Given the description of an element on the screen output the (x, y) to click on. 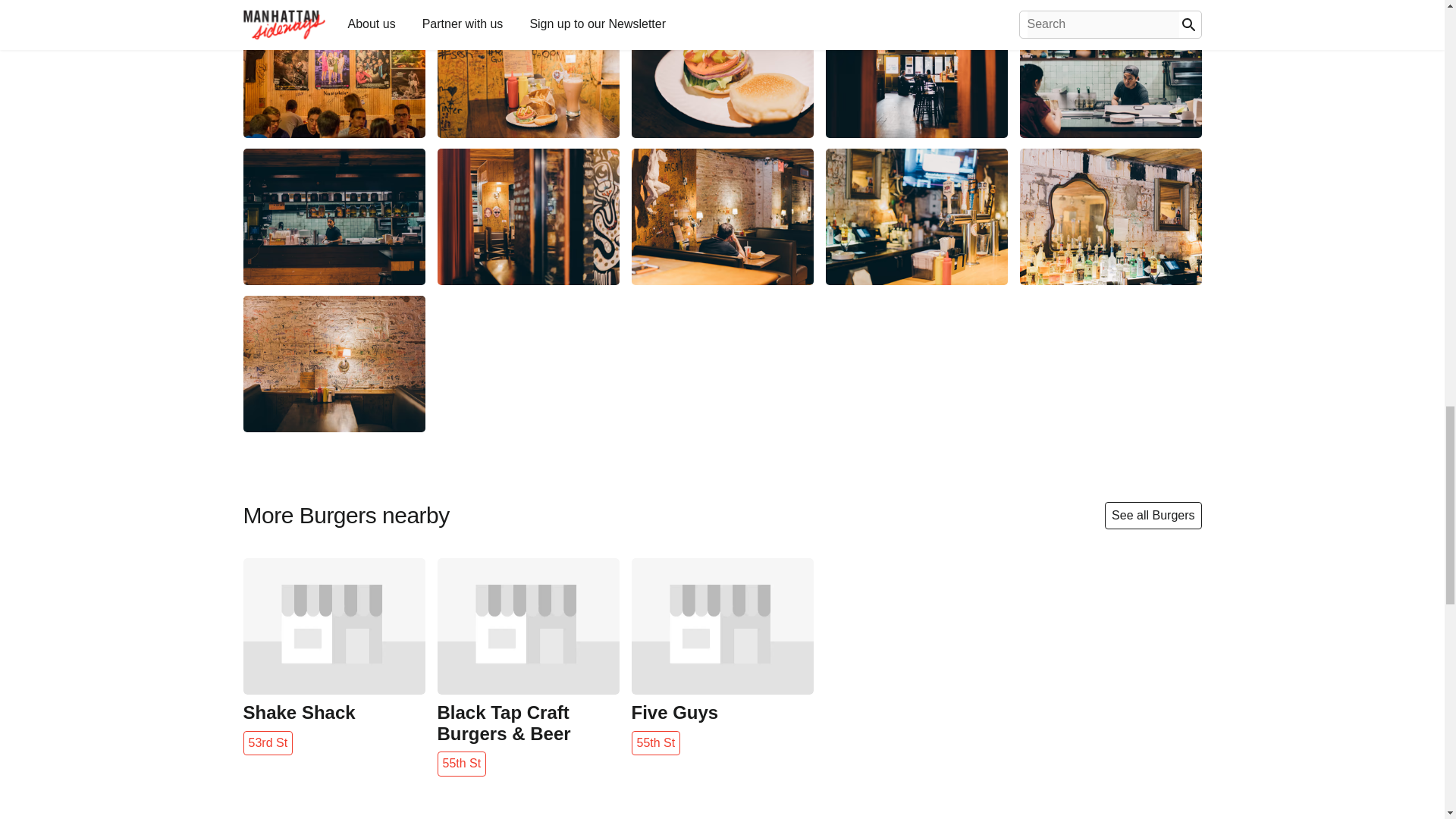
See all Burgers (1153, 515)
Shake Shack (334, 712)
53rd St (267, 743)
